Given the description of an element on the screen output the (x, y) to click on. 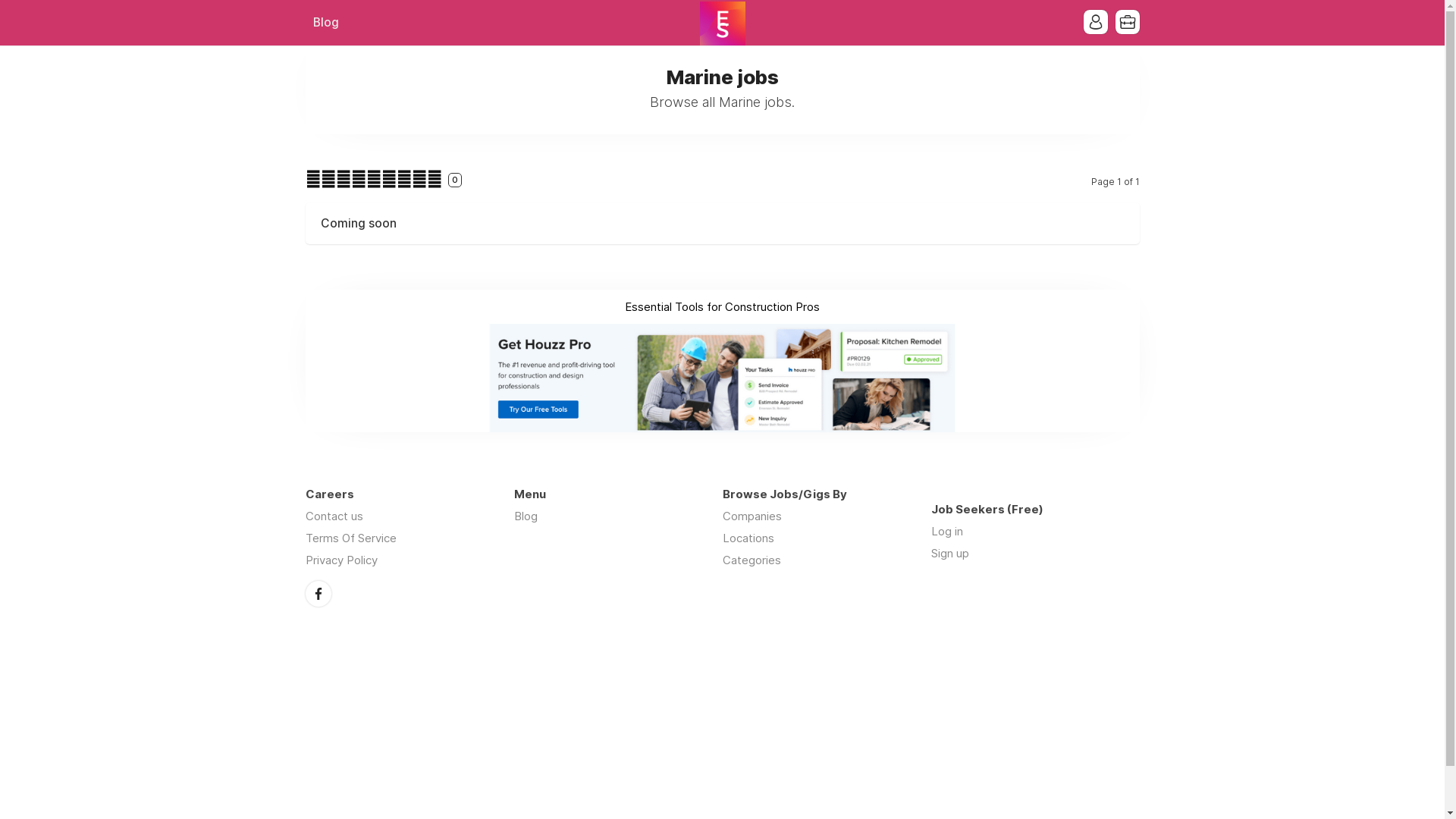
Terms Of Service Element type: text (349, 537)
Log in Element type: text (947, 531)
Sign up Element type: text (950, 553)
Blog Element type: text (324, 22)
Privacy Policy Element type: text (340, 559)
Companies Element type: text (751, 515)
Contact us Element type: text (333, 515)
Locations Element type: text (747, 537)
Categories Element type: text (750, 559)
Careers Element type: hover (721, 24)
Blog Element type: text (525, 515)
Facebook Element type: text (317, 593)
